Given the description of an element on the screen output the (x, y) to click on. 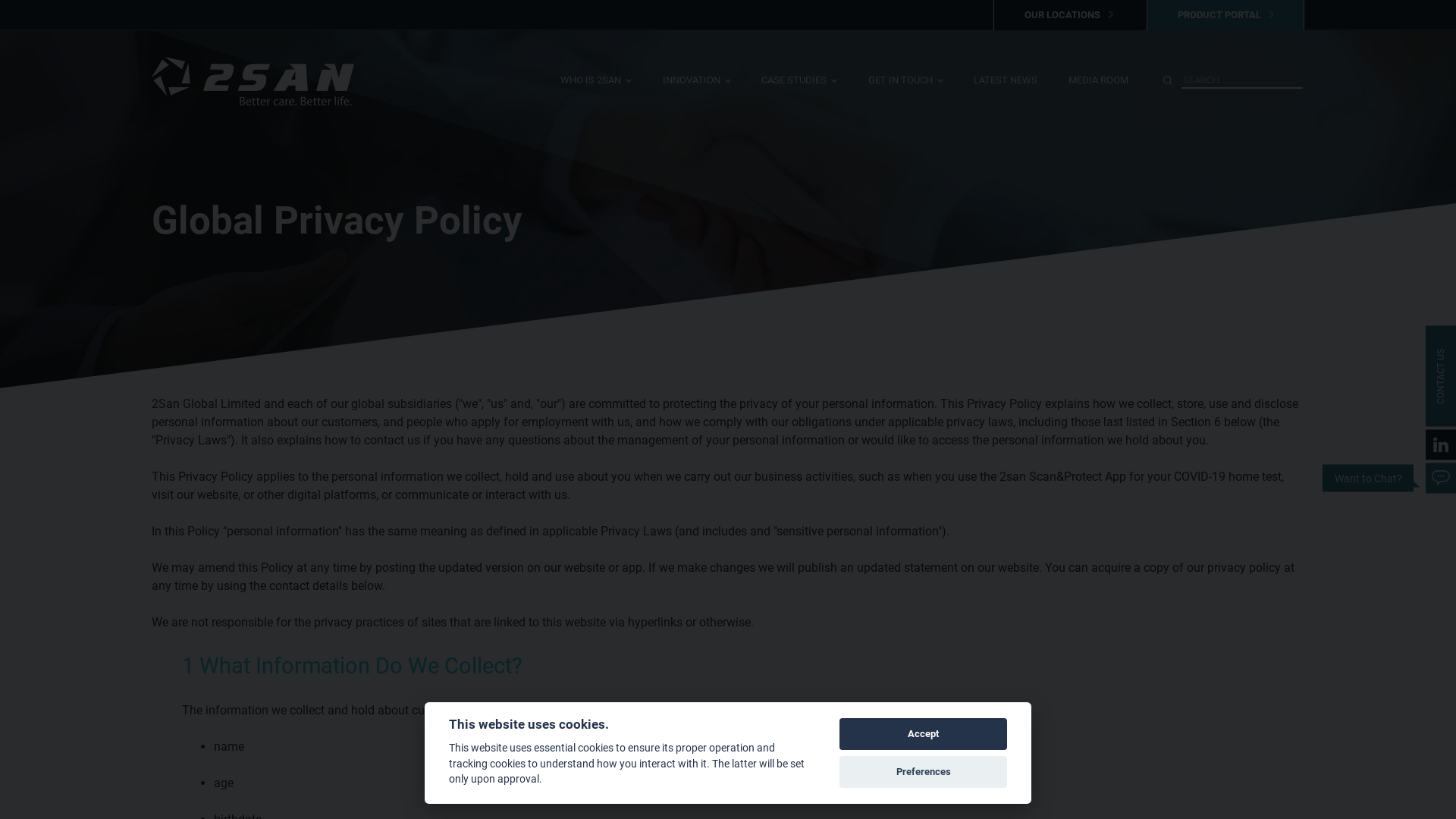
MEDIA ROOM Element type: text (1098, 92)
LATEST NEWS Element type: text (1005, 92)
CASE STUDIES Element type: text (799, 92)
INNOVATION Element type: text (696, 92)
WHO IS 2SAN Element type: text (595, 92)
PRODUCT PORTAL Element type: text (1225, 15)
Accept Element type: text (923, 733)
Preferences Element type: text (923, 771)
GET IN TOUCH Element type: text (905, 92)
OUR LOCATIONS Element type: text (1067, 15)
